Given the description of an element on the screen output the (x, y) to click on. 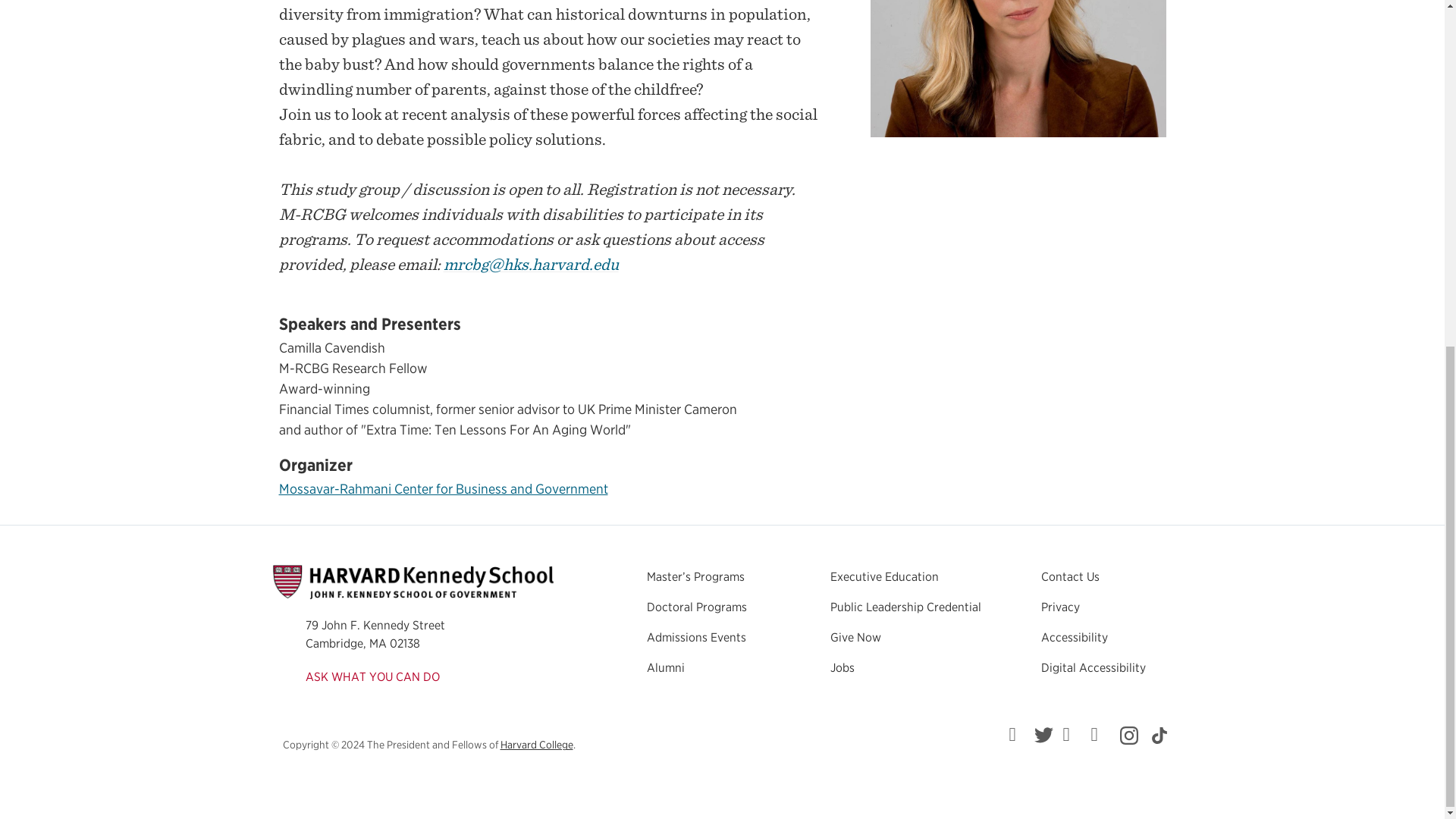
Harvard Kennedy School (412, 582)
